Given the description of an element on the screen output the (x, y) to click on. 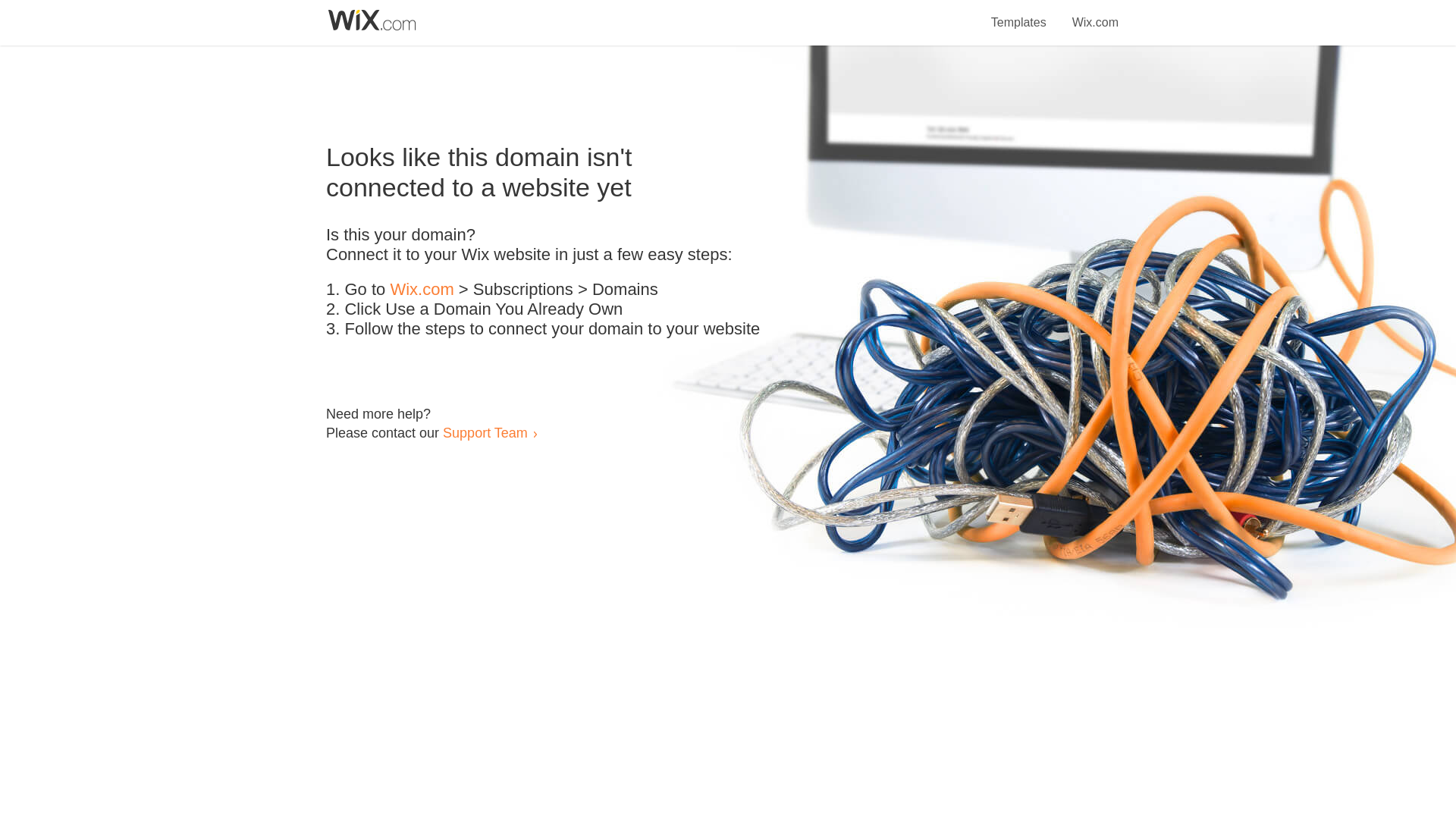
Wix.com (1095, 14)
Support Team (484, 432)
Wix.com (421, 289)
Templates (1018, 14)
